Given the description of an element on the screen output the (x, y) to click on. 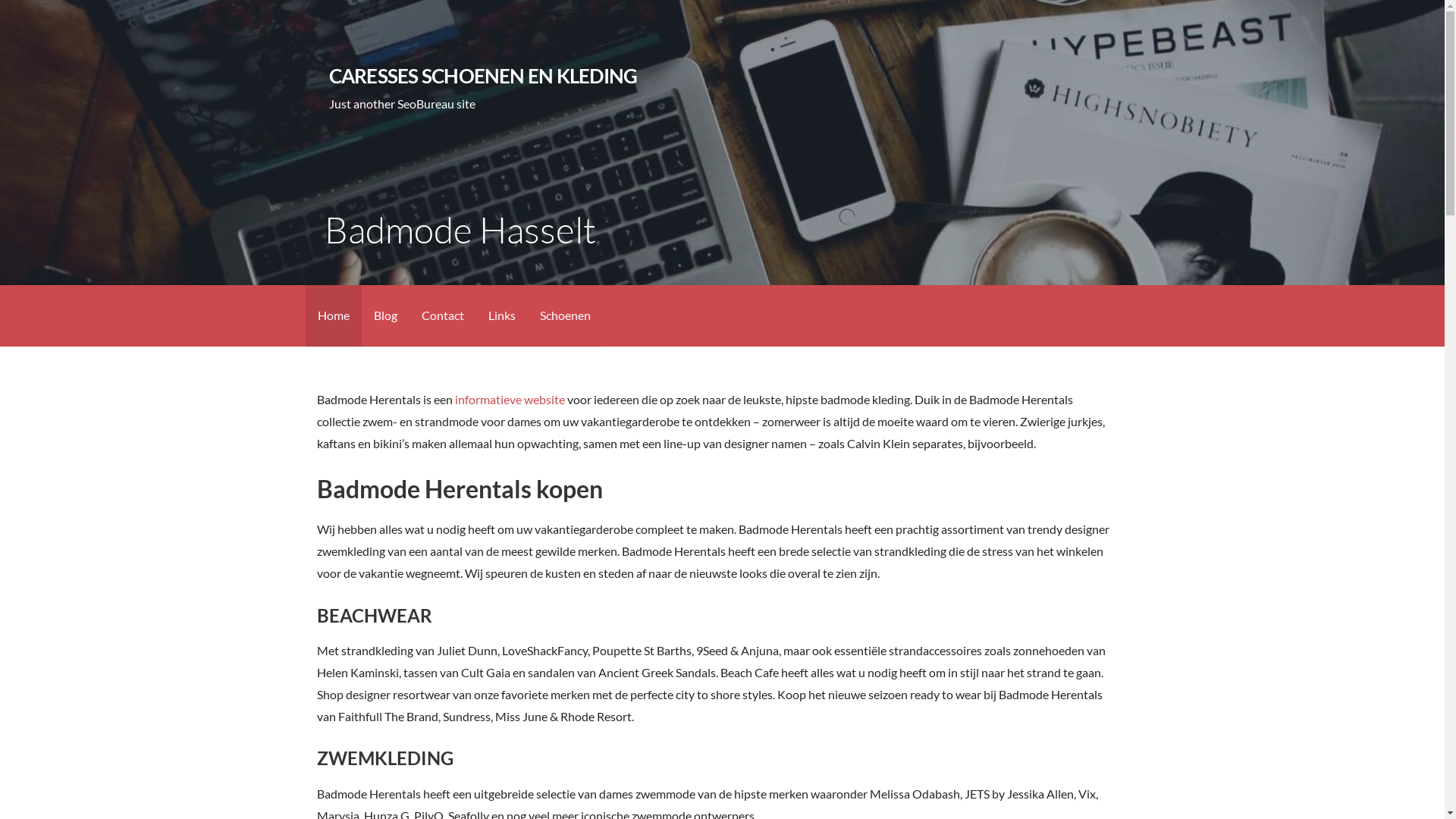
Home Element type: text (332, 315)
Schoenen Element type: text (564, 315)
Links Element type: text (501, 315)
CARESSES SCHOENEN EN KLEDING Element type: text (483, 75)
Contact Element type: text (442, 315)
informatieve website Element type: text (509, 399)
Blog Element type: text (384, 315)
